Given the description of an element on the screen output the (x, y) to click on. 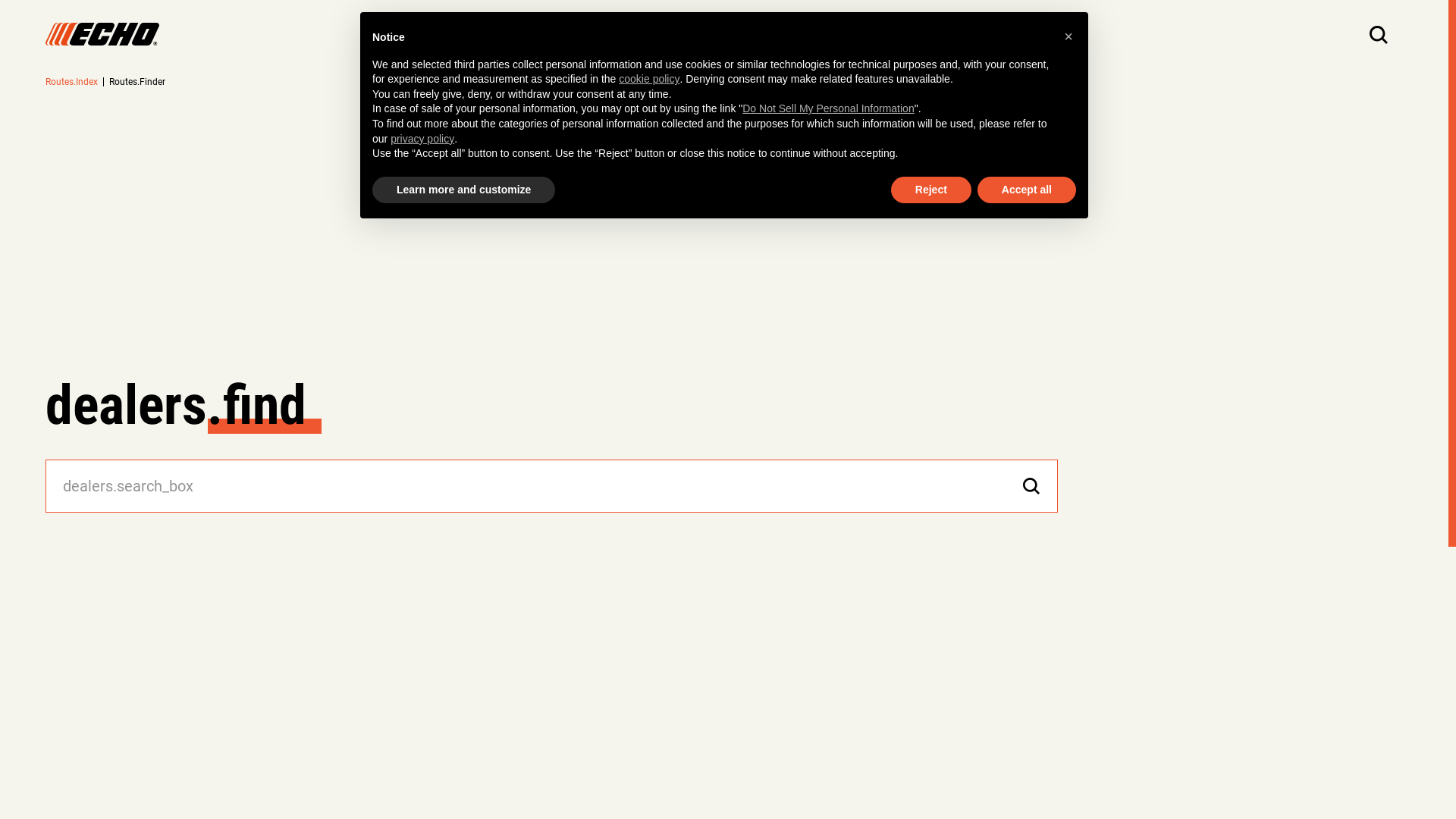
Routes.Index Element type: text (71, 81)
Reject Element type: text (931, 189)
News Element type: text (877, 33)
privacy policy Element type: text (422, 139)
Accept all Element type: text (1026, 189)
Learn more and customize Element type: text (463, 189)
Find a stockist Element type: text (787, 33)
header.logo_alt Element type: hover (102, 33)
cookie policy Element type: text (648, 79)
Do Not Sell My Personal Information Element type: text (827, 108)
